Given the description of an element on the screen output the (x, y) to click on. 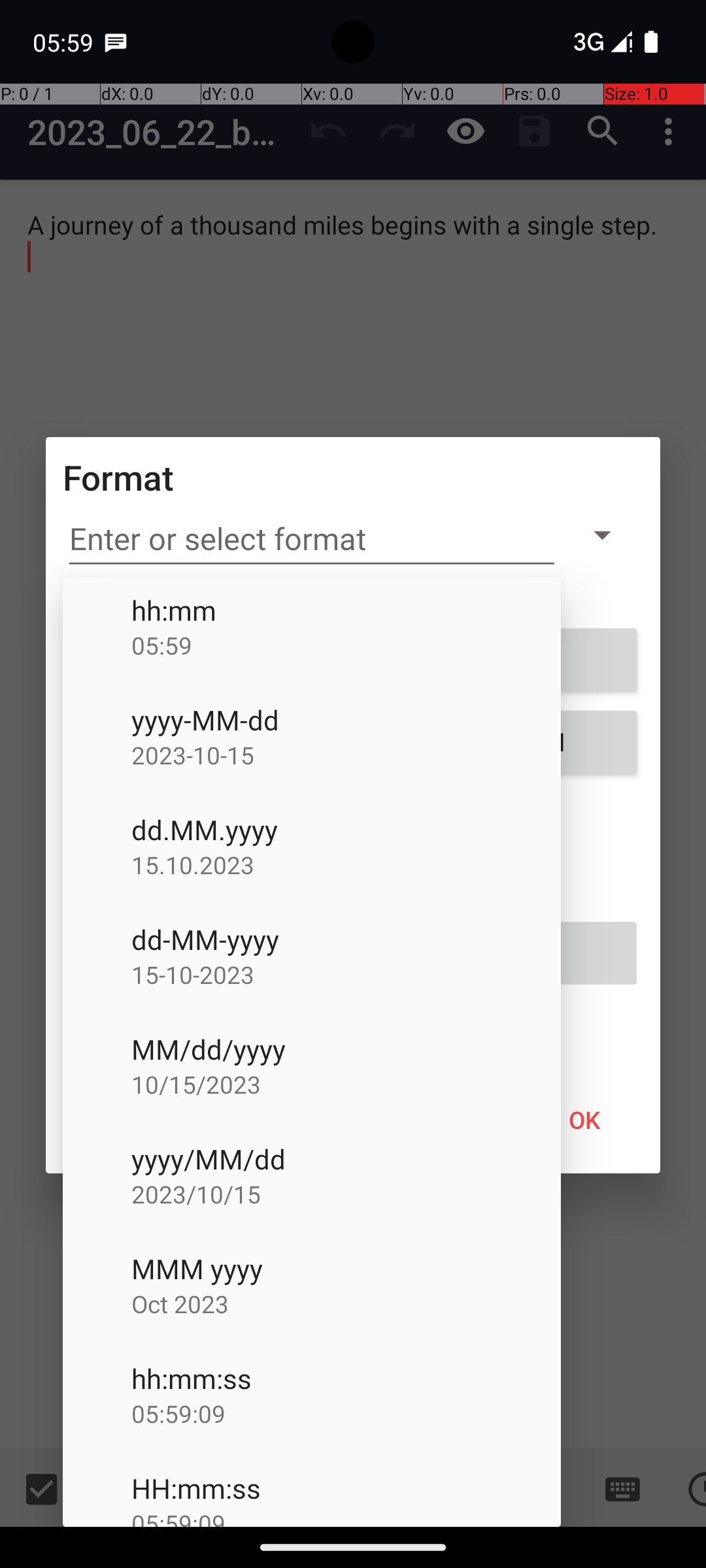
hh:mm Element type: android.widget.TextView (345, 609)
05:59 Element type: android.widget.TextView (345, 644)
2023-10-15 Element type: android.widget.TextView (345, 754)
dd.MM.yyyy Element type: android.widget.TextView (345, 829)
15.10.2023 Element type: android.widget.TextView (345, 864)
dd-MM-yyyy Element type: android.widget.TextView (345, 938)
15-10-2023 Element type: android.widget.TextView (345, 974)
MM/dd/yyyy Element type: android.widget.TextView (345, 1048)
10/15/2023 Element type: android.widget.TextView (345, 1083)
yyyy/MM/dd Element type: android.widget.TextView (345, 1158)
2023/10/15 Element type: android.widget.TextView (345, 1193)
MMM yyyy Element type: android.widget.TextView (345, 1268)
Oct 2023 Element type: android.widget.TextView (345, 1303)
hh:mm:ss Element type: android.widget.TextView (345, 1377)
05:59:09 Element type: android.widget.TextView (345, 1413)
HH:mm:ss Element type: android.widget.TextView (345, 1487)
